Given the description of an element on the screen output the (x, y) to click on. 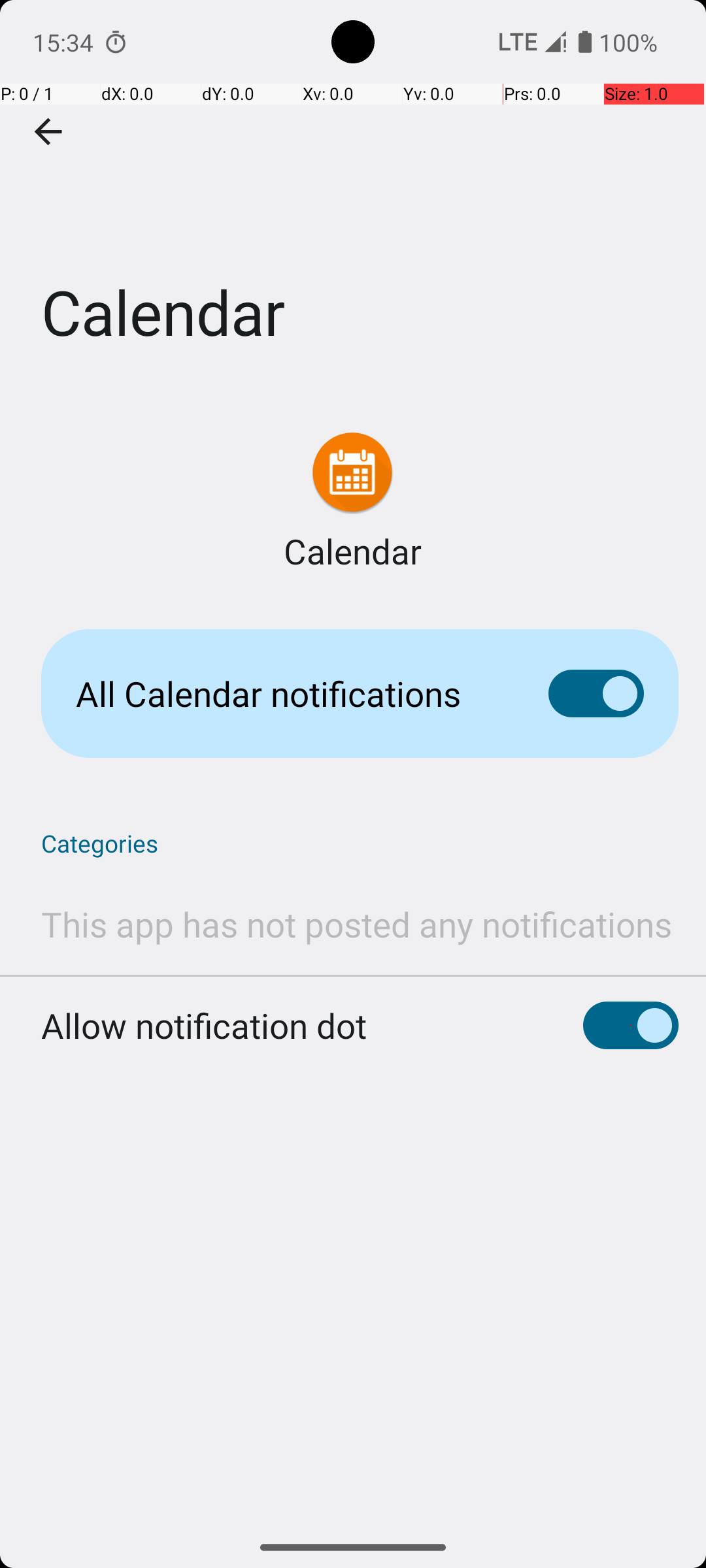
All Calendar notifications Element type: android.widget.TextView (291, 693)
This app has not posted any notifications Element type: android.widget.TextView (356, 923)
Allow notification dot Element type: android.widget.TextView (203, 1025)
